Given the description of an element on the screen output the (x, y) to click on. 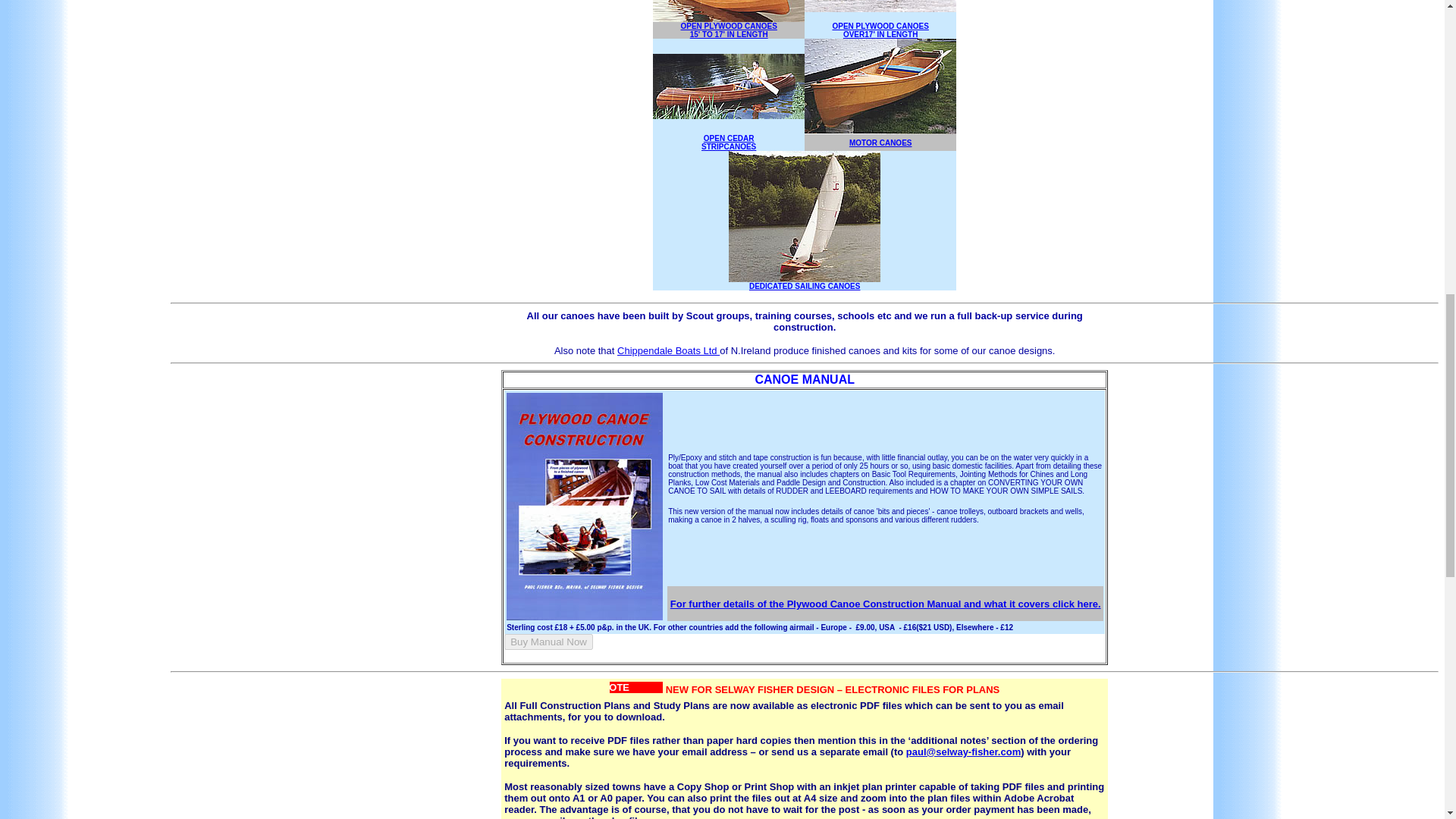
MOTOR CANOES (880, 141)
Buy Manual Now (547, 641)
